Given the description of an element on the screen output the (x, y) to click on. 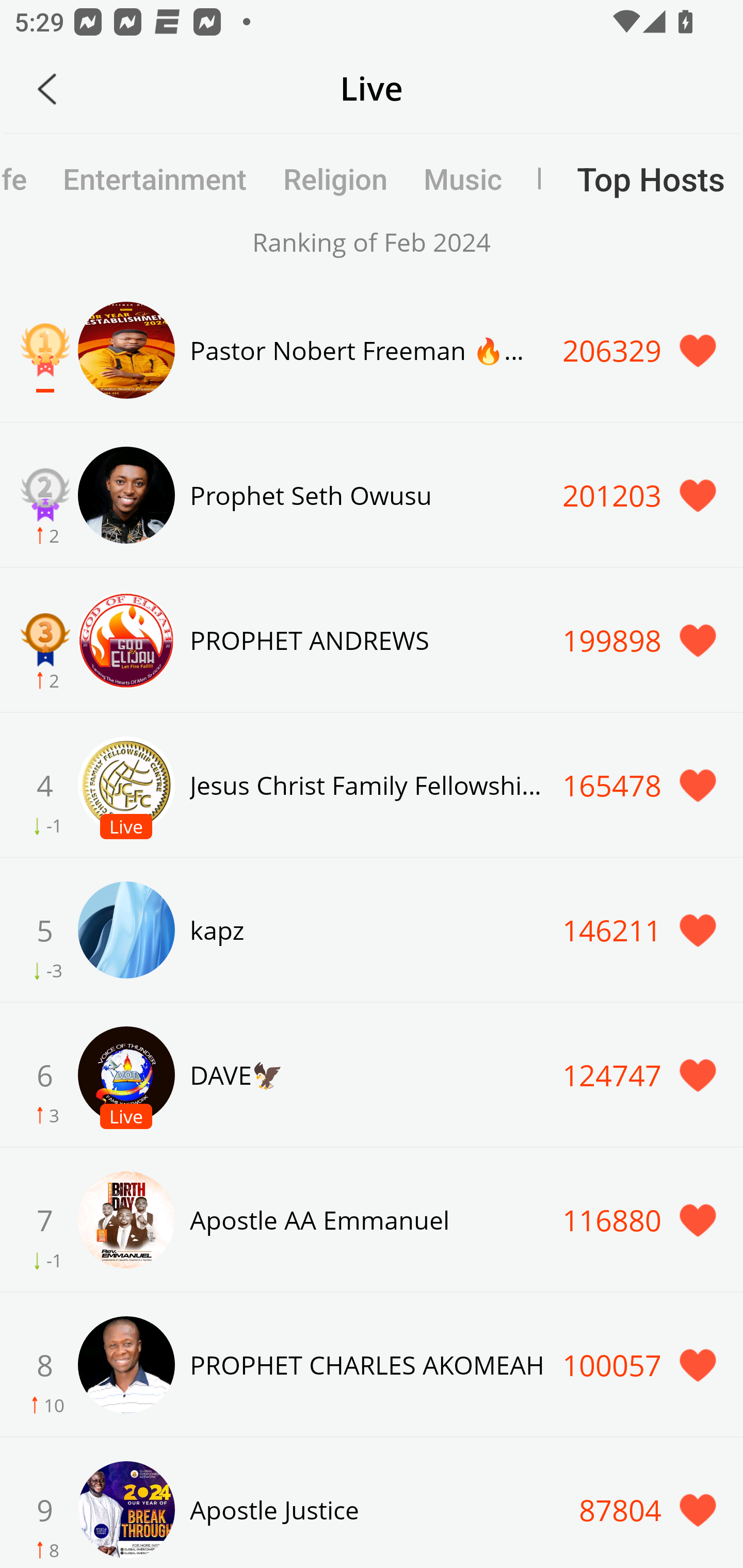
Back (46, 88)
Entertainment (154, 178)
Religion (335, 178)
Music (462, 178)
Pastor Nobert Freeman 🔥🔥🔥 206329 (371, 349)
2 Prophet Seth Owusu 201203 (371, 495)
2 PROPHET ANDREWS 199898 (371, 639)
5 -3 kapz 146211 (371, 929)
6 3 Live DAVE🦅 124747 (371, 1074)
7 -1 Apostle AA Emmanuel 116880 (371, 1219)
8 10 PROPHET CHARLES AKOMEAH 100057 (371, 1364)
9 8 Apostle Justice 87804 (371, 1502)
